Given the description of an element on the screen output the (x, y) to click on. 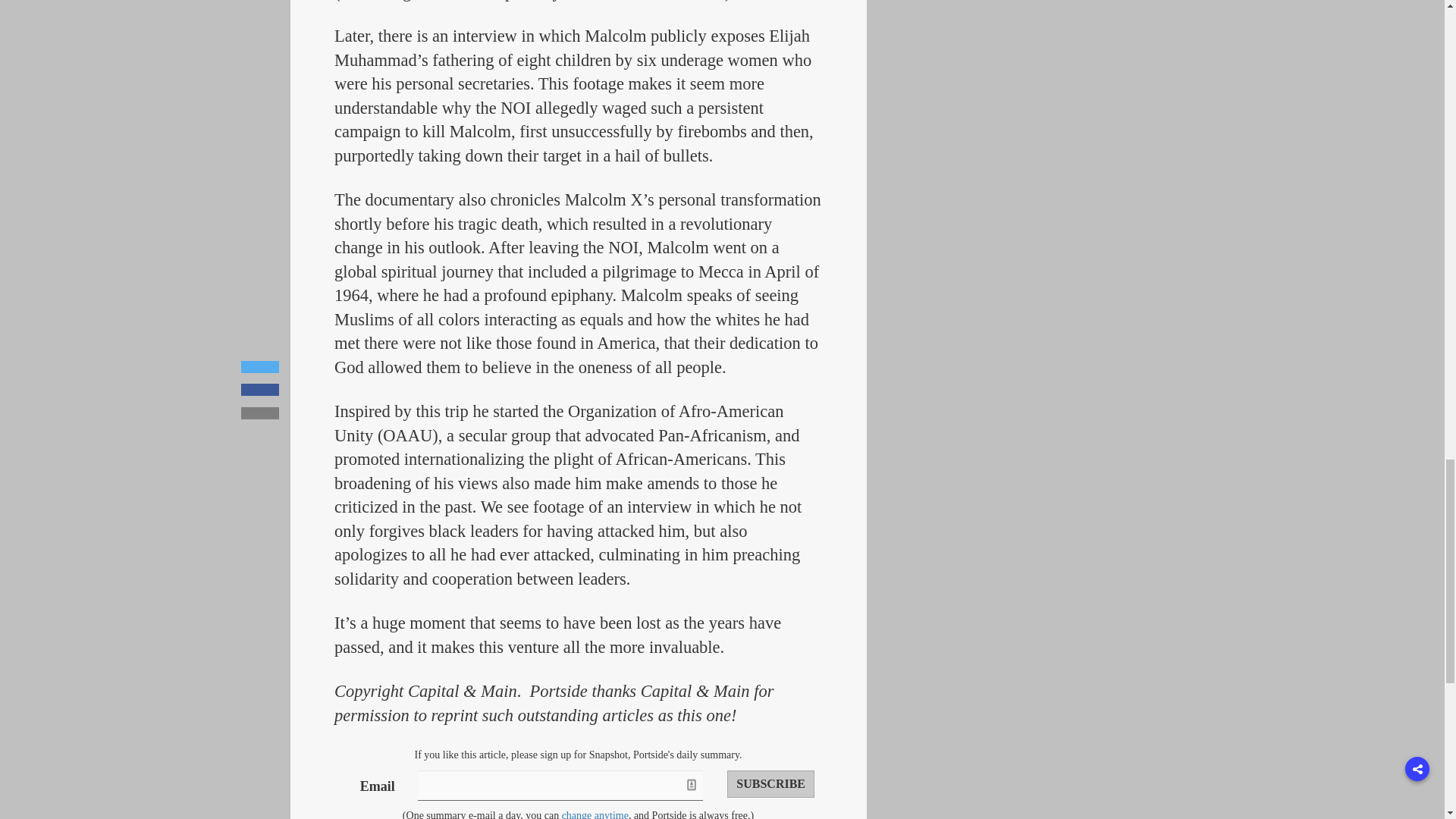
Subscribe (769, 783)
Subscribe (769, 783)
change anytime (595, 814)
